Given the description of an element on the screen output the (x, y) to click on. 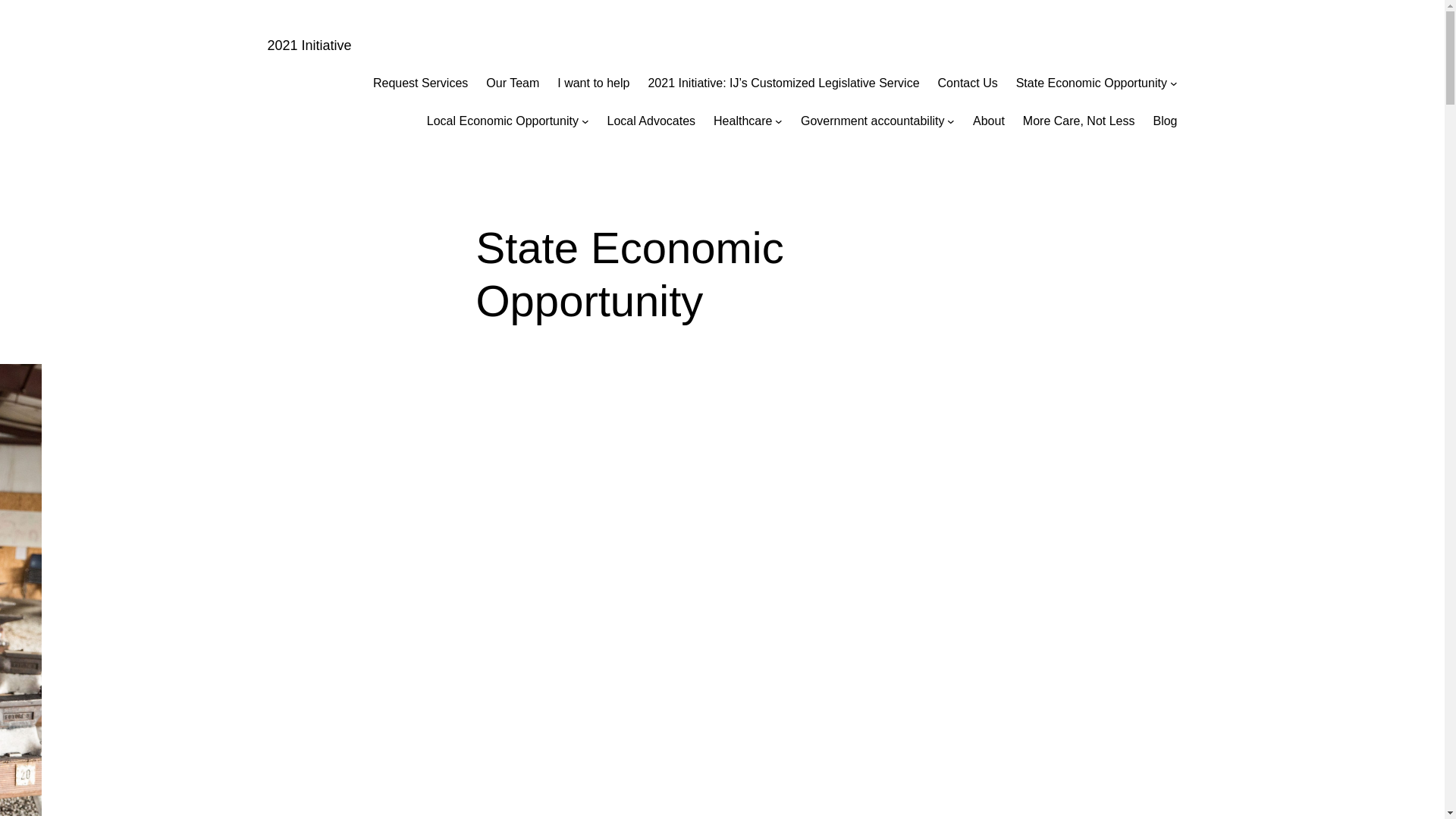
State Economic Opportunity Element type: text (1091, 83)
Healthcare Element type: text (742, 121)
Local Advocates Element type: text (651, 121)
More Care, Not Less Element type: text (1078, 121)
Local Economic Opportunity Element type: text (502, 121)
Government accountability Element type: text (872, 121)
Contact Us Element type: text (967, 83)
I want to help Element type: text (593, 83)
Blog Element type: text (1164, 121)
2021 Initiative Element type: text (308, 45)
About Element type: text (988, 121)
Request Services Element type: text (420, 83)
Our Team Element type: text (512, 83)
